Given the description of an element on the screen output the (x, y) to click on. 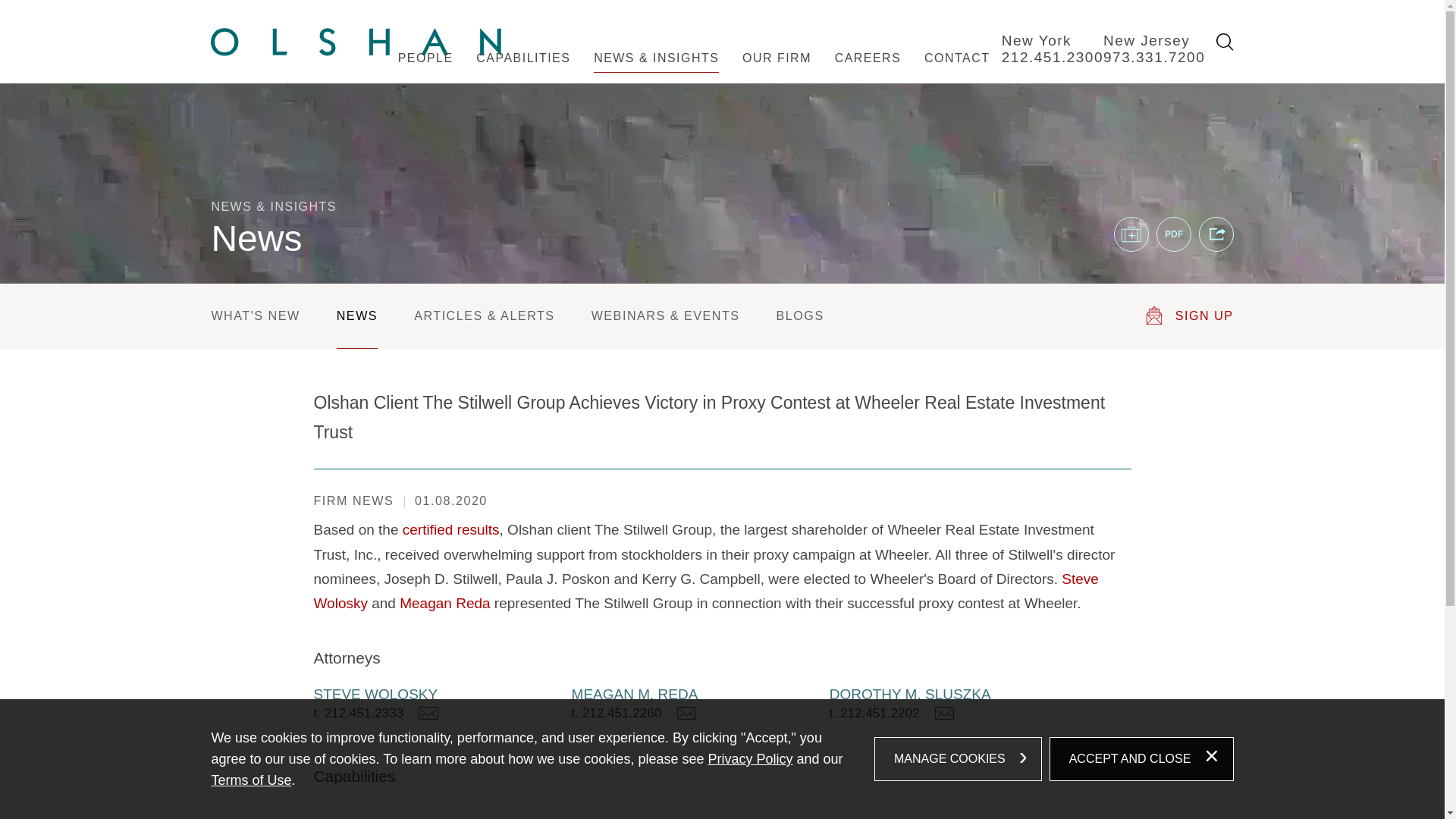
Main Menu (674, 20)
CAREERS (867, 73)
PEOPLE (424, 73)
CAPABILITIES (523, 73)
Share (1215, 234)
Main Content (667, 20)
Menu (674, 20)
Search (1224, 41)
OUR FIRM (777, 73)
Print PDF (1173, 234)
